Given the description of an element on the screen output the (x, y) to click on. 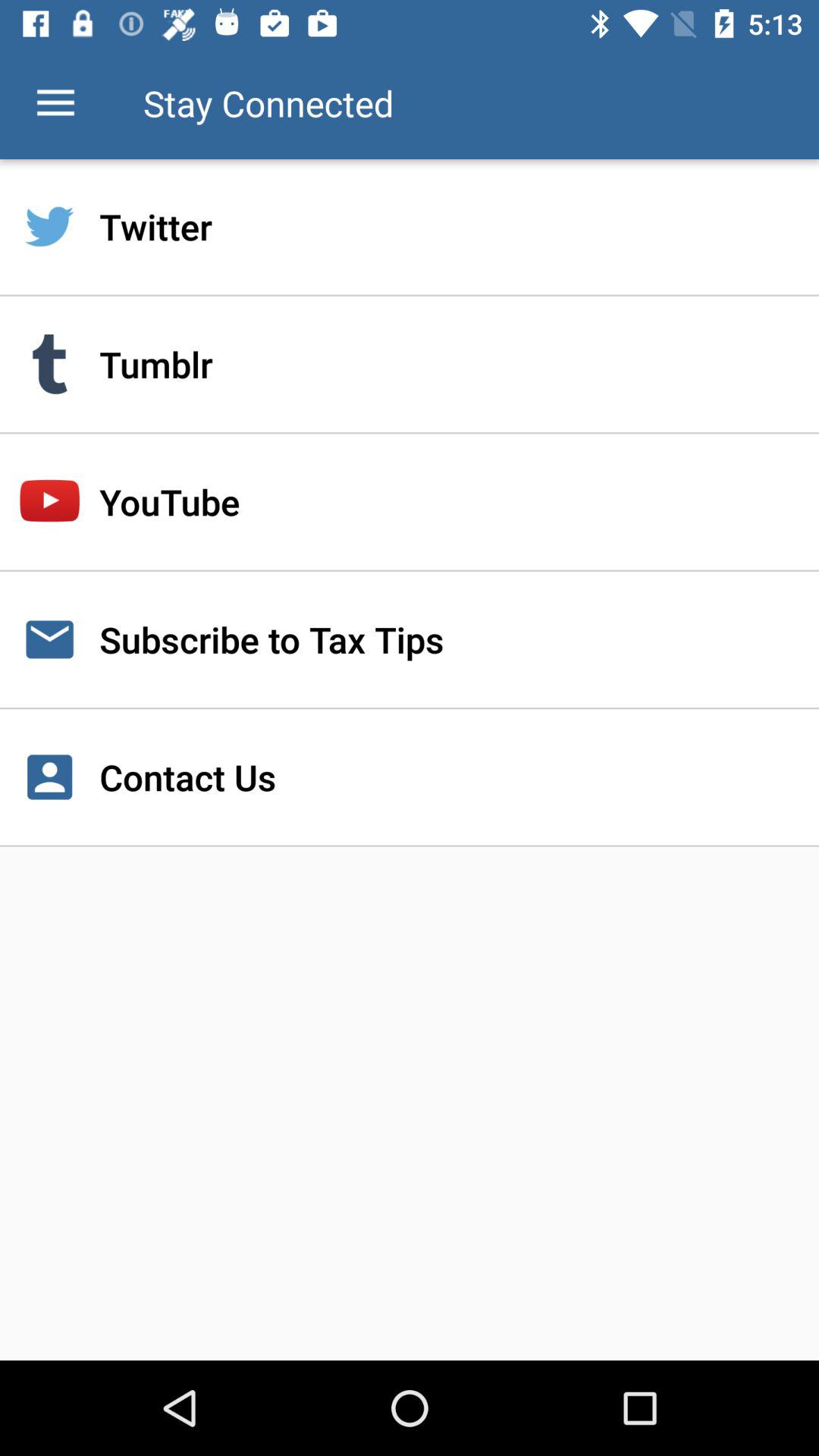
launch twitter (409, 226)
